Given the description of an element on the screen output the (x, y) to click on. 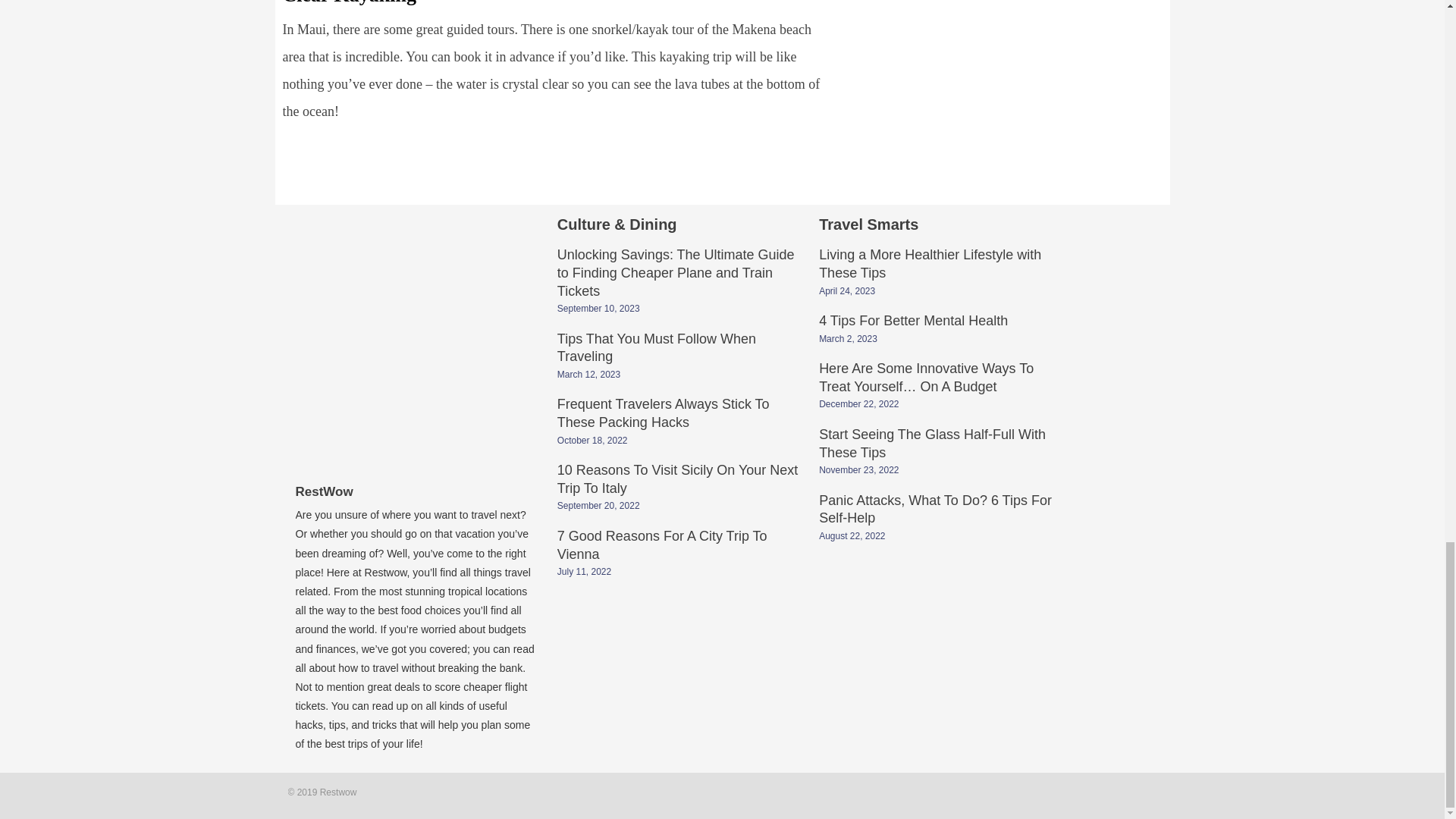
Panic Attacks, What To Do? 6 Tips For Self-Help (934, 510)
Start Seeing The Glass Half-Full With These Tips (931, 444)
Living a More Healthier Lifestyle with These Tips (929, 265)
4 Tips For Better Mental Health (912, 321)
10 Reasons To Visit Sicily On Your Next Trip To Italy (677, 480)
Tips That You Must Follow When Traveling (656, 348)
Frequent Travelers Always Stick To These Packing Hacks (663, 414)
7 Good Reasons For A City Trip To Vienna (662, 546)
